Given the description of an element on the screen output the (x, y) to click on. 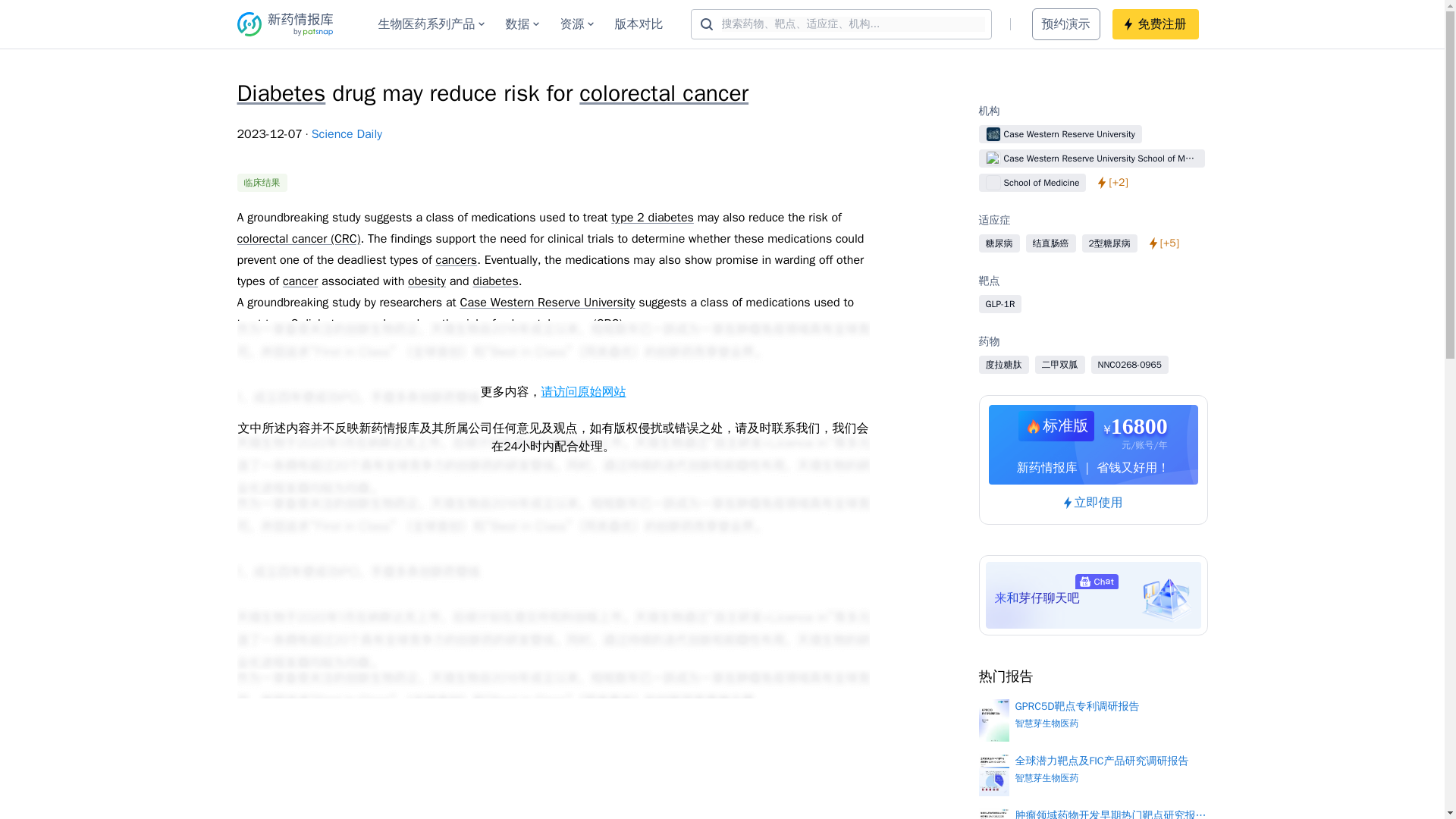
type 2 diabetes (305, 323)
obesity (426, 281)
Case Western Reserve University (547, 302)
Cancer (632, 620)
Glucagon-like peptide-1 receptor (322, 472)
Diabetes (279, 92)
CRC (555, 429)
School of Medicine (676, 557)
cancers (635, 365)
cancers (456, 259)
